Given the description of an element on the screen output the (x, y) to click on. 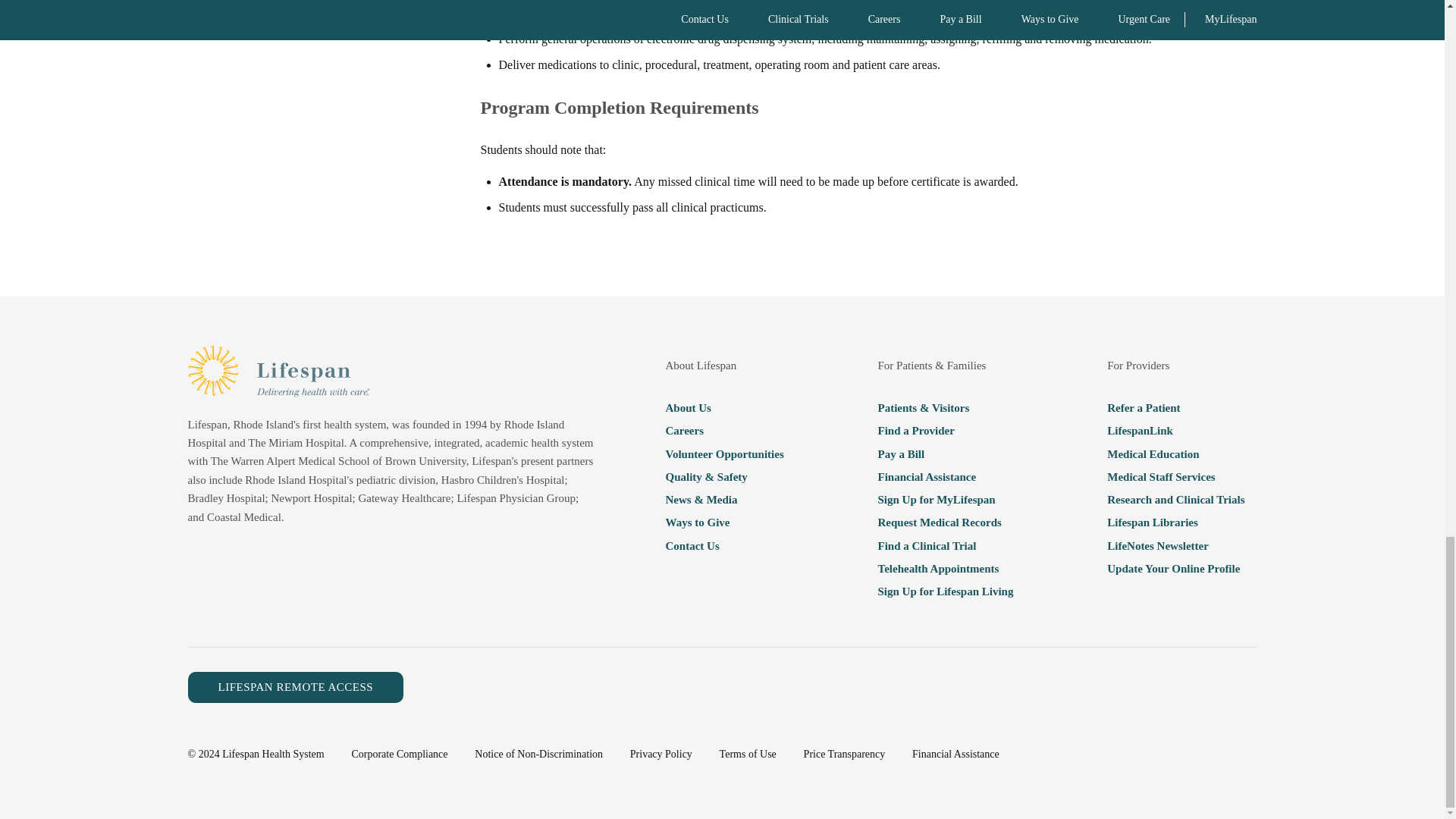
Find a clinical trial (945, 546)
How to refer a patient to a Lifespan service or provider (1175, 407)
Sign up or access the MyLifespan online patient portal (945, 499)
How to request medical records (945, 522)
Medical staff services at Lifespan hospitals (1175, 476)
Information about Lifespan Link (1175, 430)
Ways to give to Lifespan hospitals (724, 522)
Pay a bill online (945, 454)
